Given the description of an element on the screen output the (x, y) to click on. 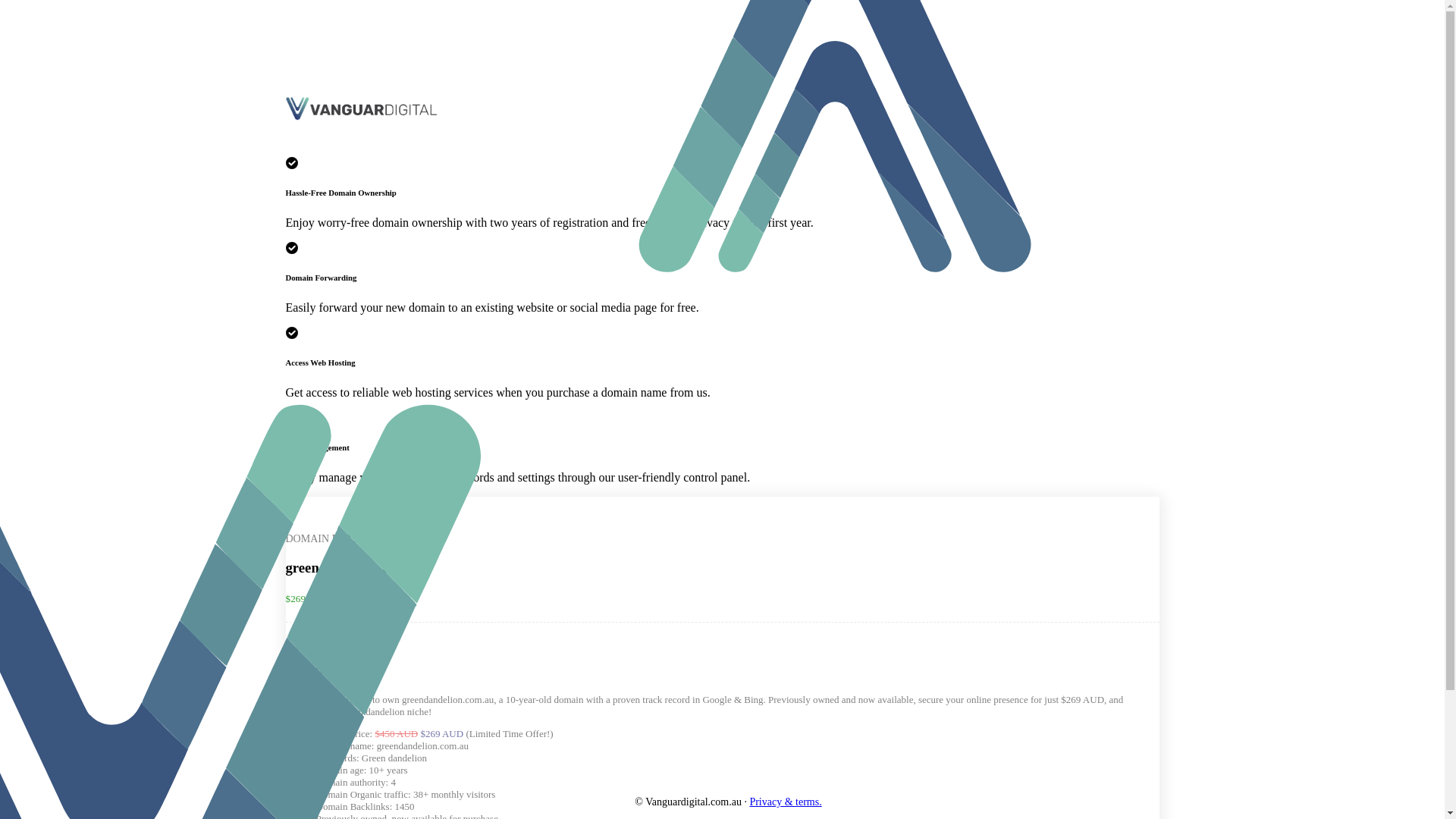
Privacy & terms. Element type: text (785, 801)
